Given the description of an element on the screen output the (x, y) to click on. 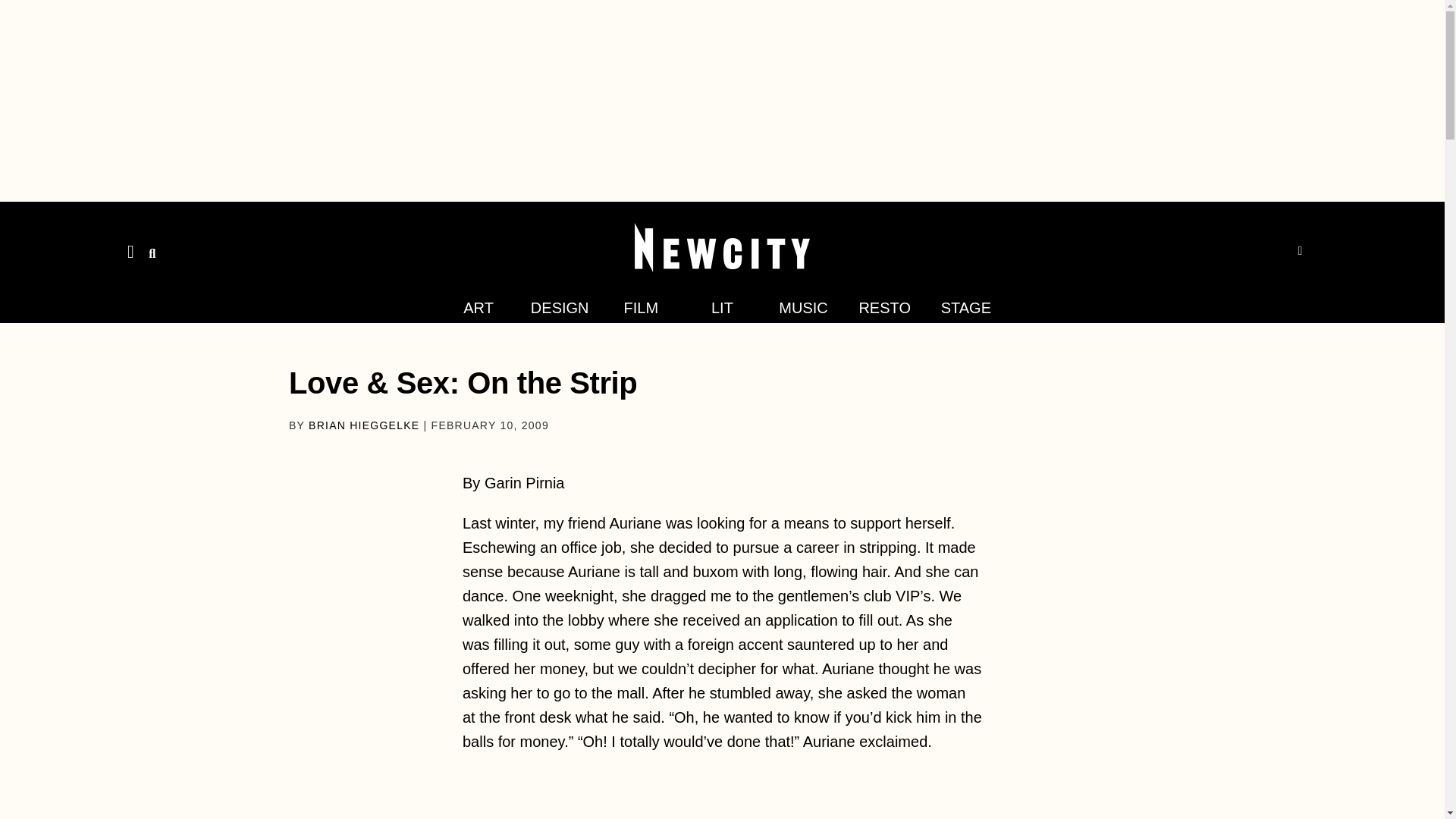
STAGE (965, 307)
RESTO (885, 307)
3rd party ad content (722, 797)
ART (478, 307)
DESIGN (560, 307)
NEWCITY (48, 216)
LIT (722, 307)
Newcity (721, 246)
MUSIC (802, 307)
FILM (641, 307)
